Given the description of an element on the screen output the (x, y) to click on. 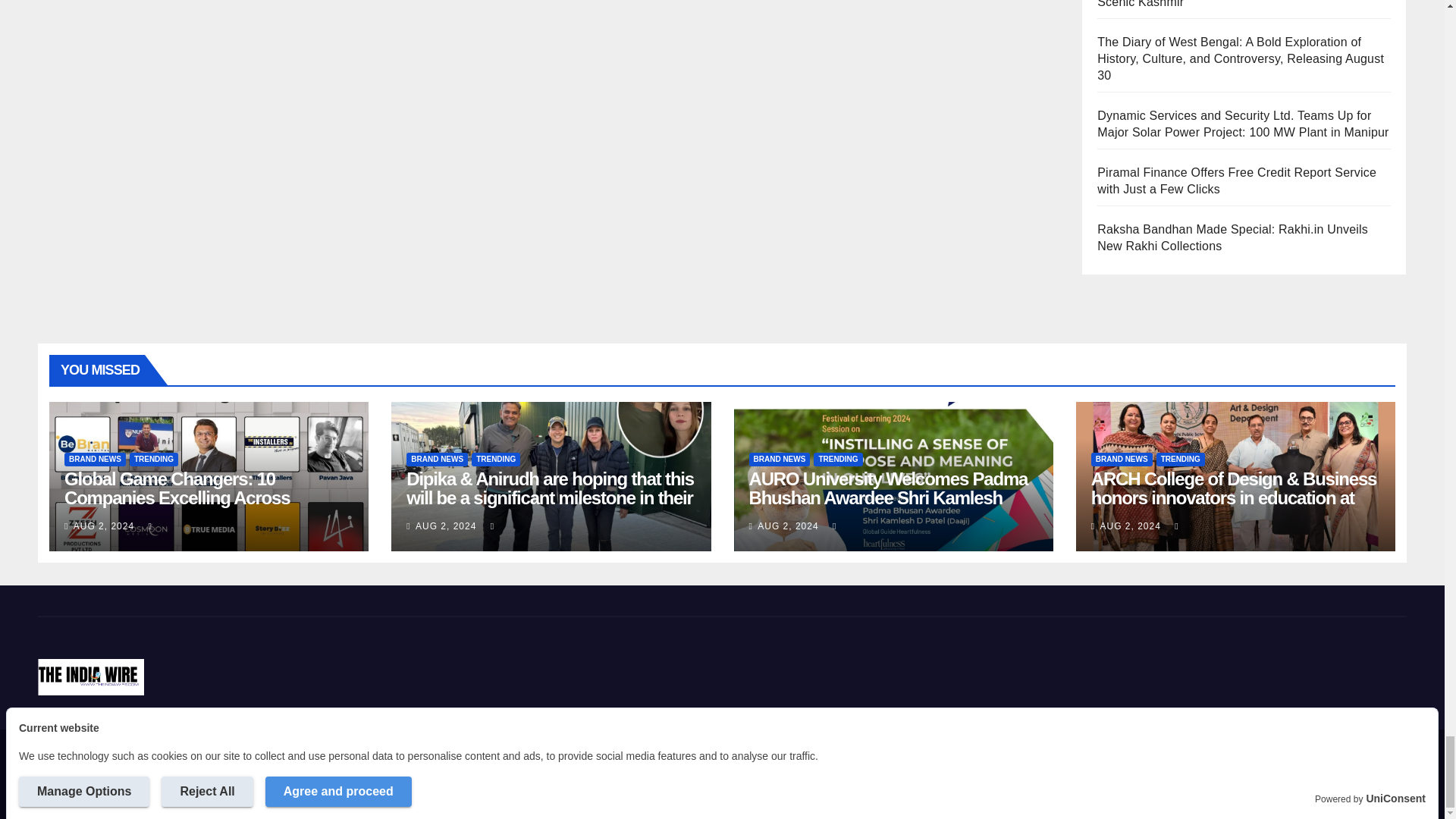
Home (870, 760)
